Given the description of an element on the screen output the (x, y) to click on. 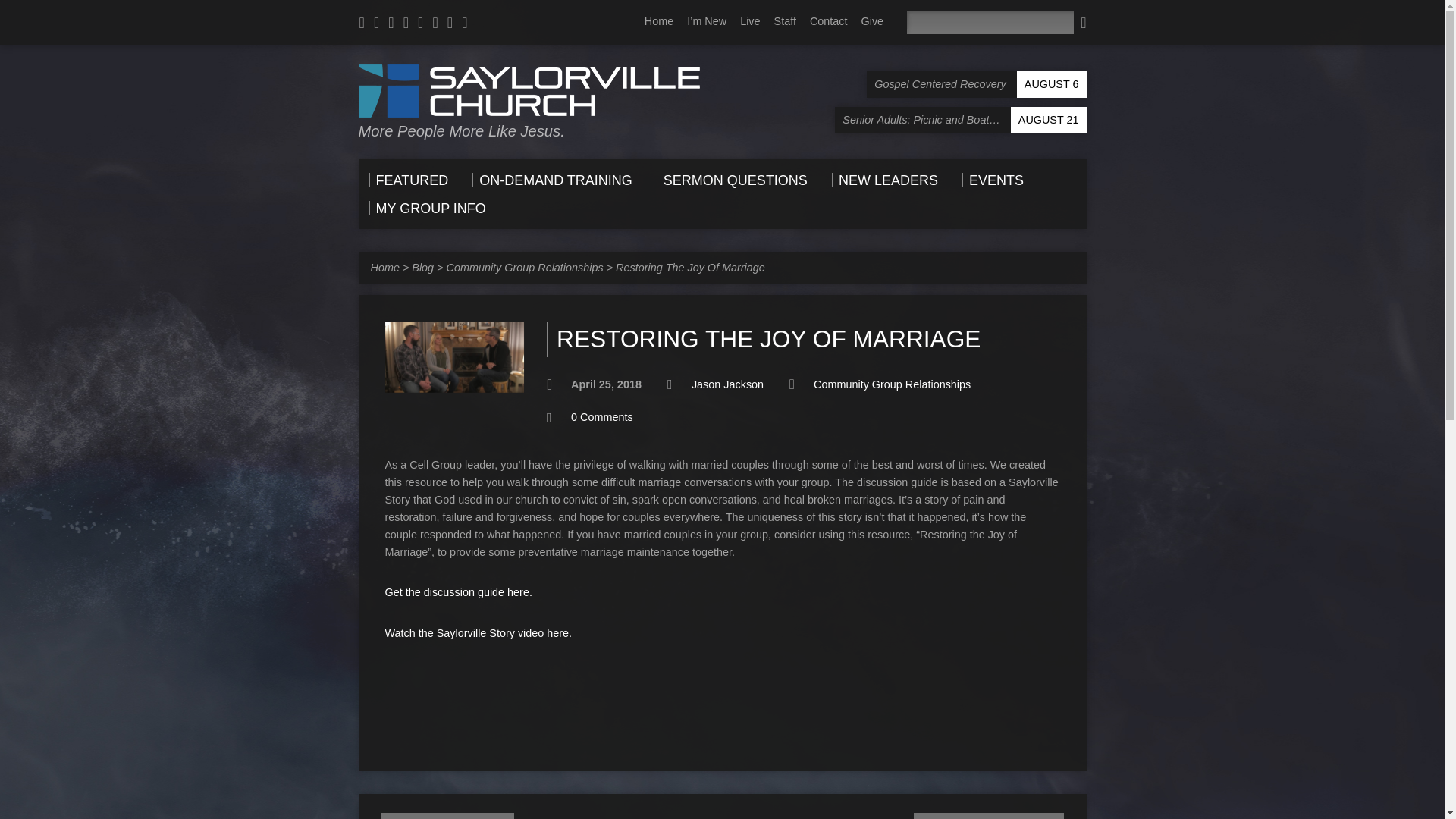
Restoring The Joy Of Marriage (690, 267)
Gospel Centered Recovery AUGUST 6 (976, 84)
Vimeo (435, 22)
ON-DEMAND TRAINING (551, 179)
Staff (785, 21)
Contact (828, 21)
Jason Jackson (726, 384)
Gospel Centered Recovery (976, 84)
SERMON QUESTIONS (732, 179)
NEW LEADERS (884, 179)
Community Group Relationships (525, 267)
YouTube (420, 22)
Flickr (449, 22)
Give (872, 21)
Podcast (362, 22)
